Given the description of an element on the screen output the (x, y) to click on. 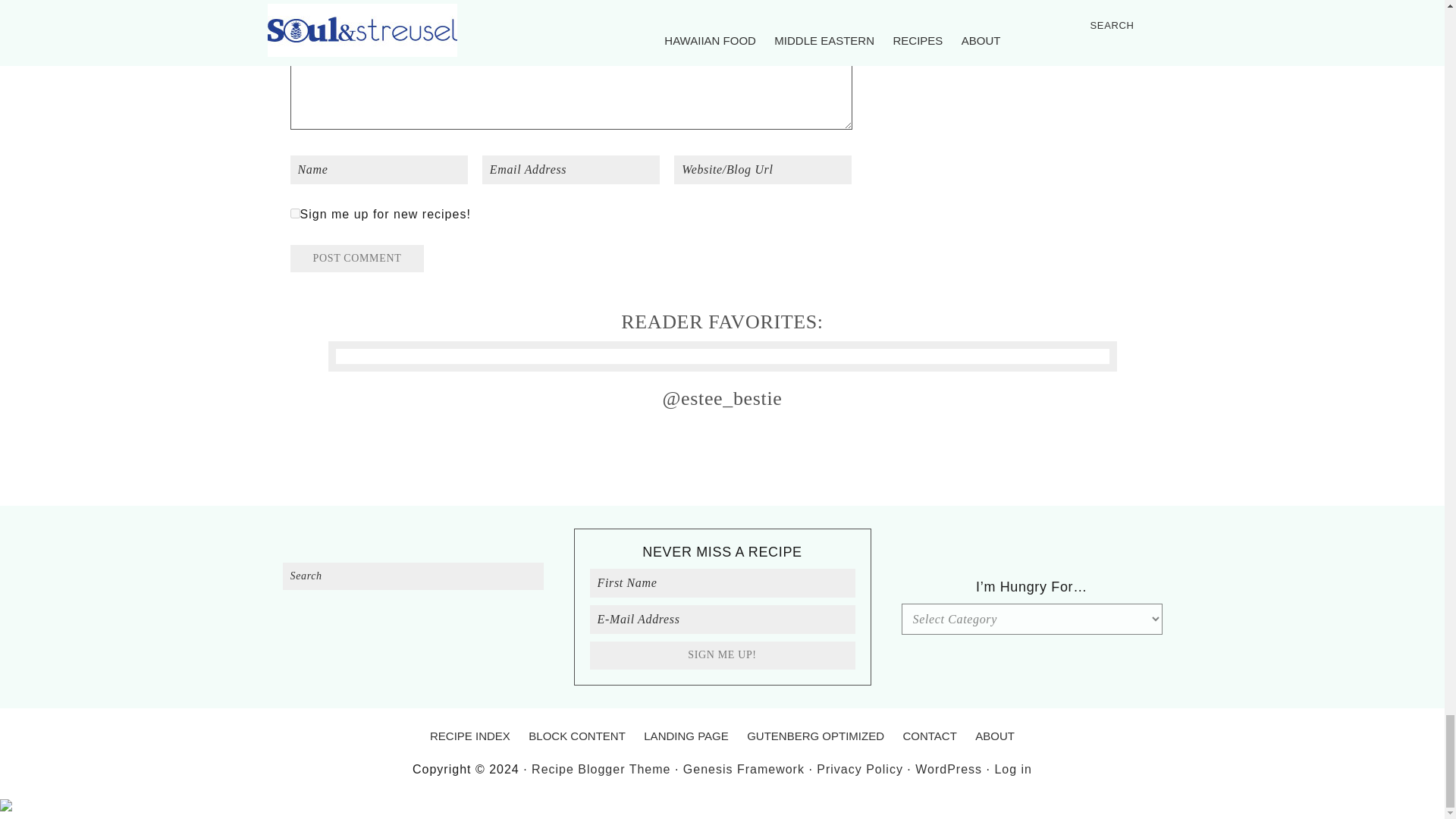
Post Comment (356, 257)
Sign Me Up! (722, 655)
1 (294, 213)
